Given the description of an element on the screen output the (x, y) to click on. 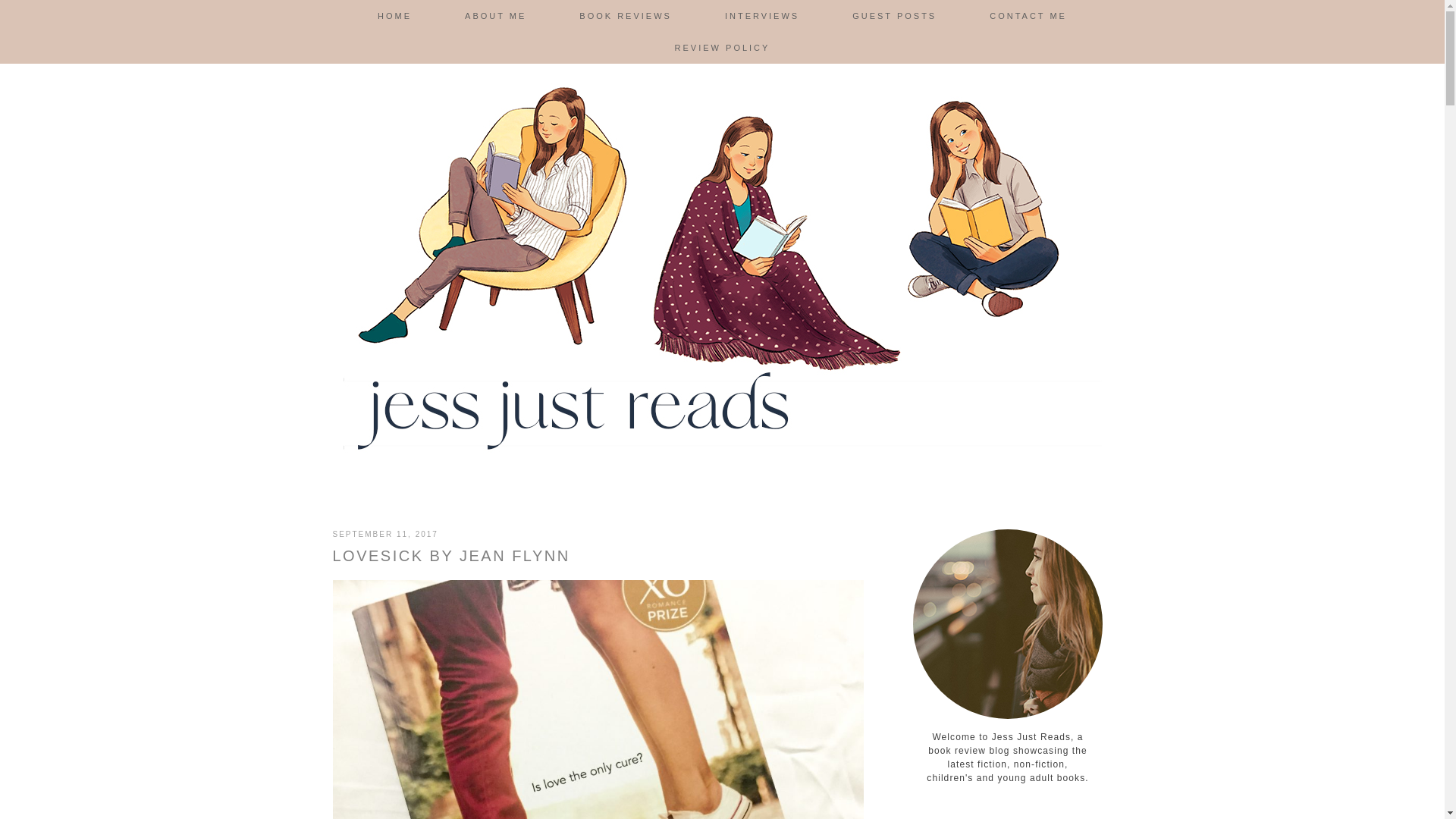
GUEST POSTS (893, 15)
INTERVIEWS (761, 15)
REVIEW POLICY (721, 47)
LOVESICK BY JEAN FLYNN (450, 555)
HOME (394, 15)
ABOUT ME (495, 15)
CONTACT ME (1027, 15)
BOOK REVIEWS (625, 15)
